Given the description of an element on the screen output the (x, y) to click on. 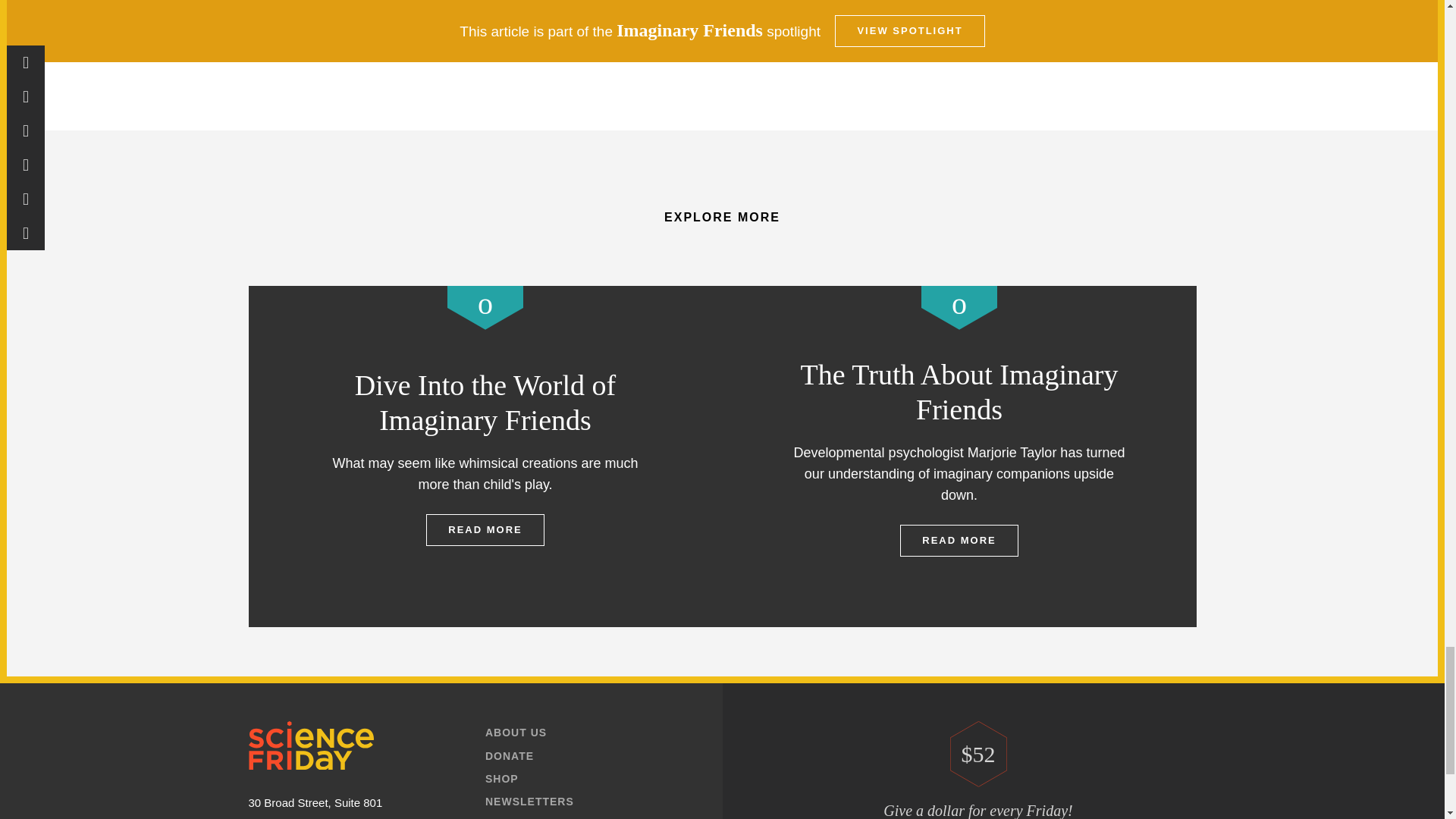
Article (484, 307)
Read More (484, 530)
